Given the description of an element on the screen output the (x, y) to click on. 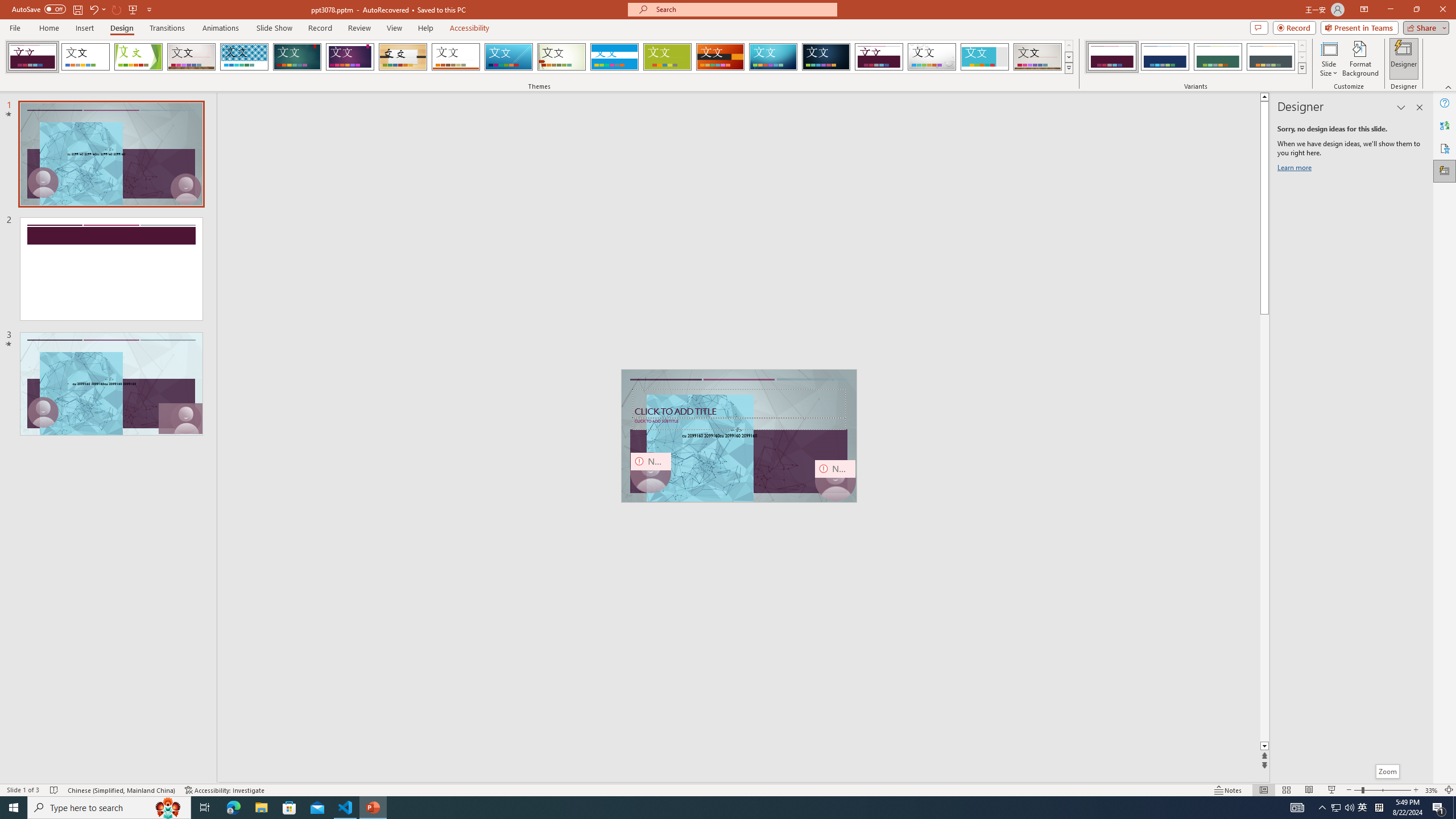
TextBox 61 (737, 436)
Circuit (772, 56)
Dividend Variant 3 (1217, 56)
